Given the description of an element on the screen output the (x, y) to click on. 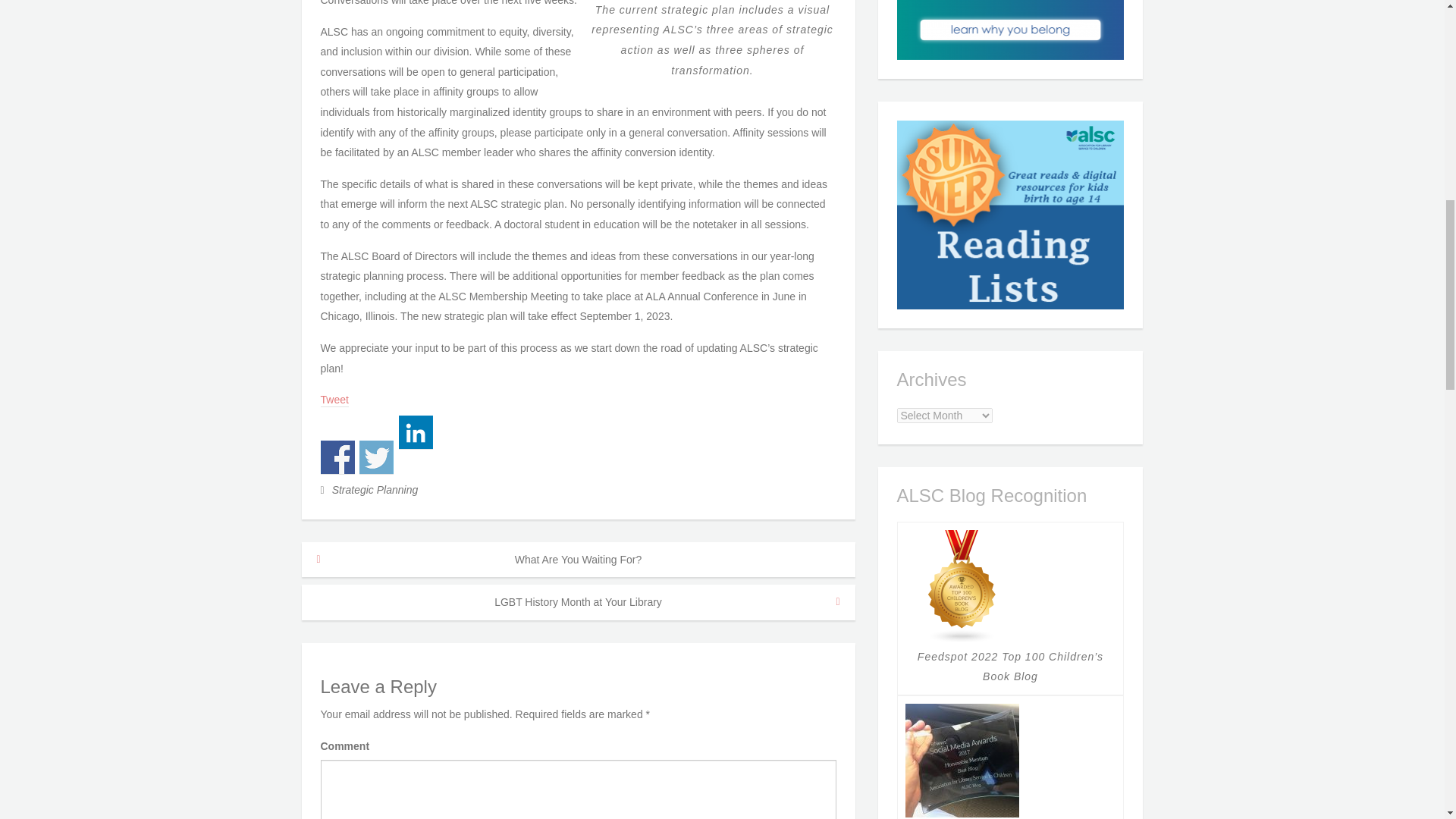
LGBT History Month at Your Library (578, 601)
Strategic Planning (375, 490)
Tweet (333, 400)
Share on Twitter (376, 457)
Share on Linkedin (415, 432)
Share on Facebook (336, 457)
What Are You Waiting For? (578, 560)
